Given the description of an element on the screen output the (x, y) to click on. 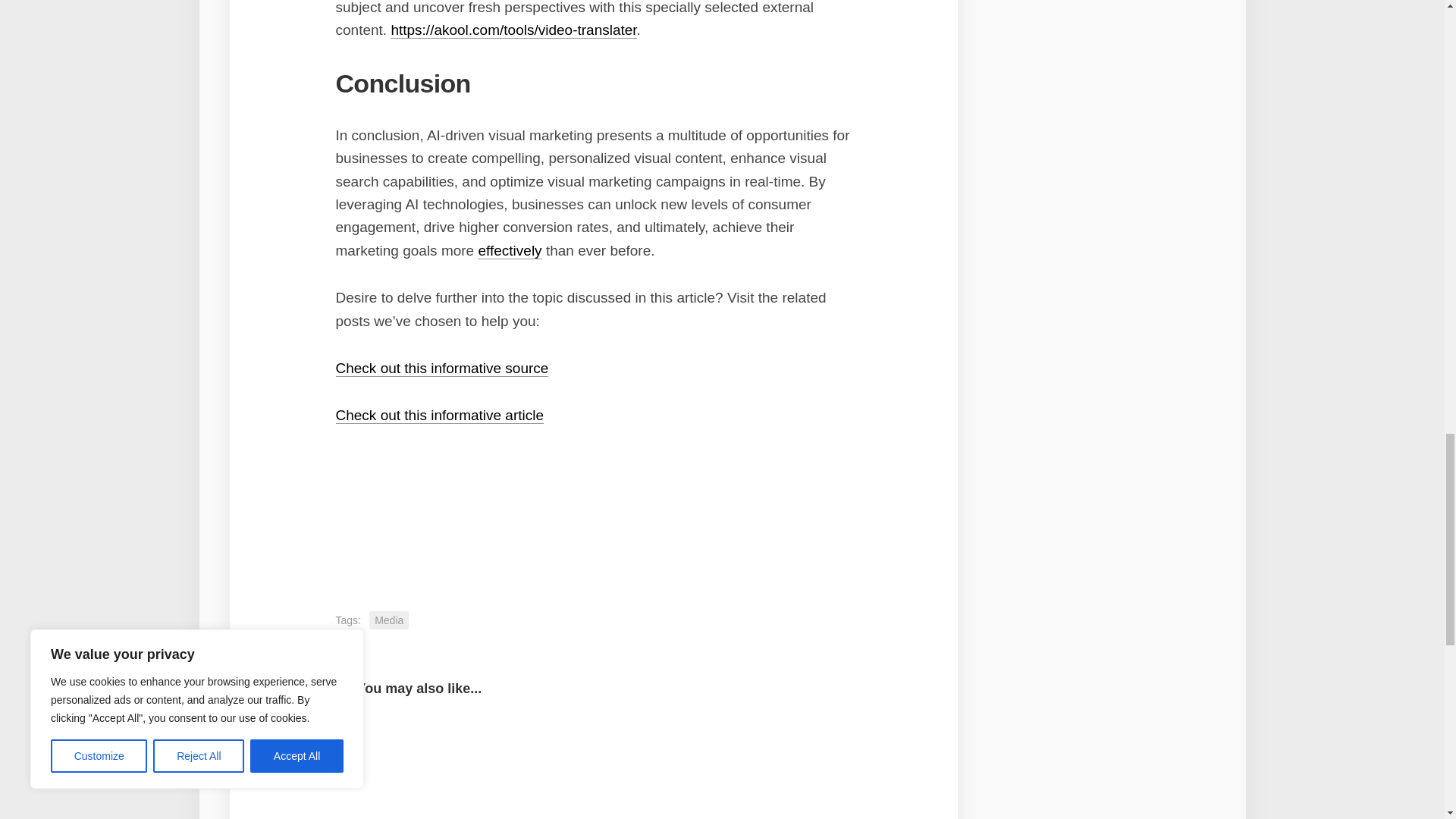
effectively (509, 250)
Check out this informative source (441, 367)
Media (389, 619)
Check out this informative article (438, 415)
